Given the description of an element on the screen output the (x, y) to click on. 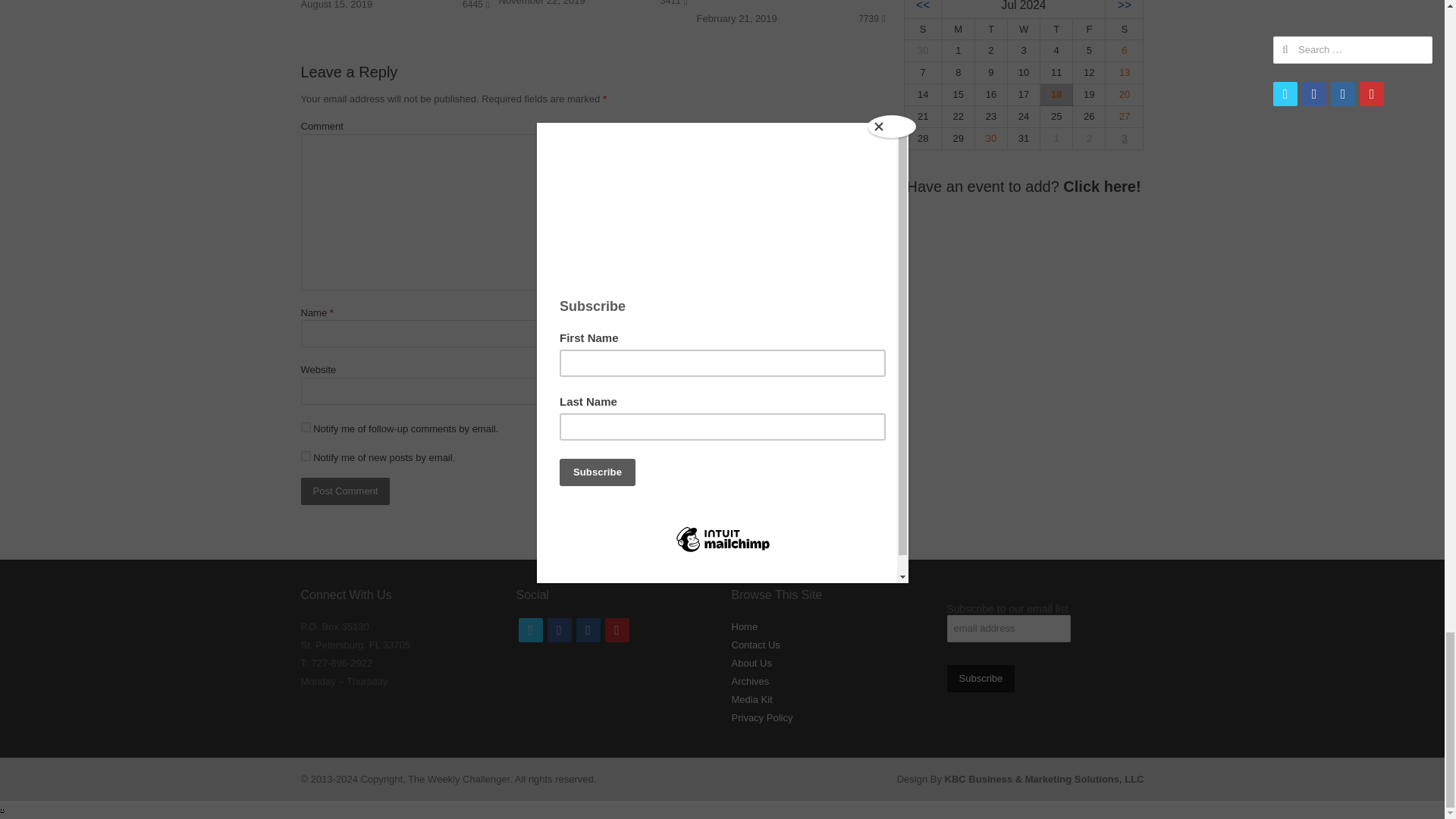
subscribe (304, 427)
Post Comment (344, 491)
subscribe (304, 456)
Subscribe (980, 678)
